Given the description of an element on the screen output the (x, y) to click on. 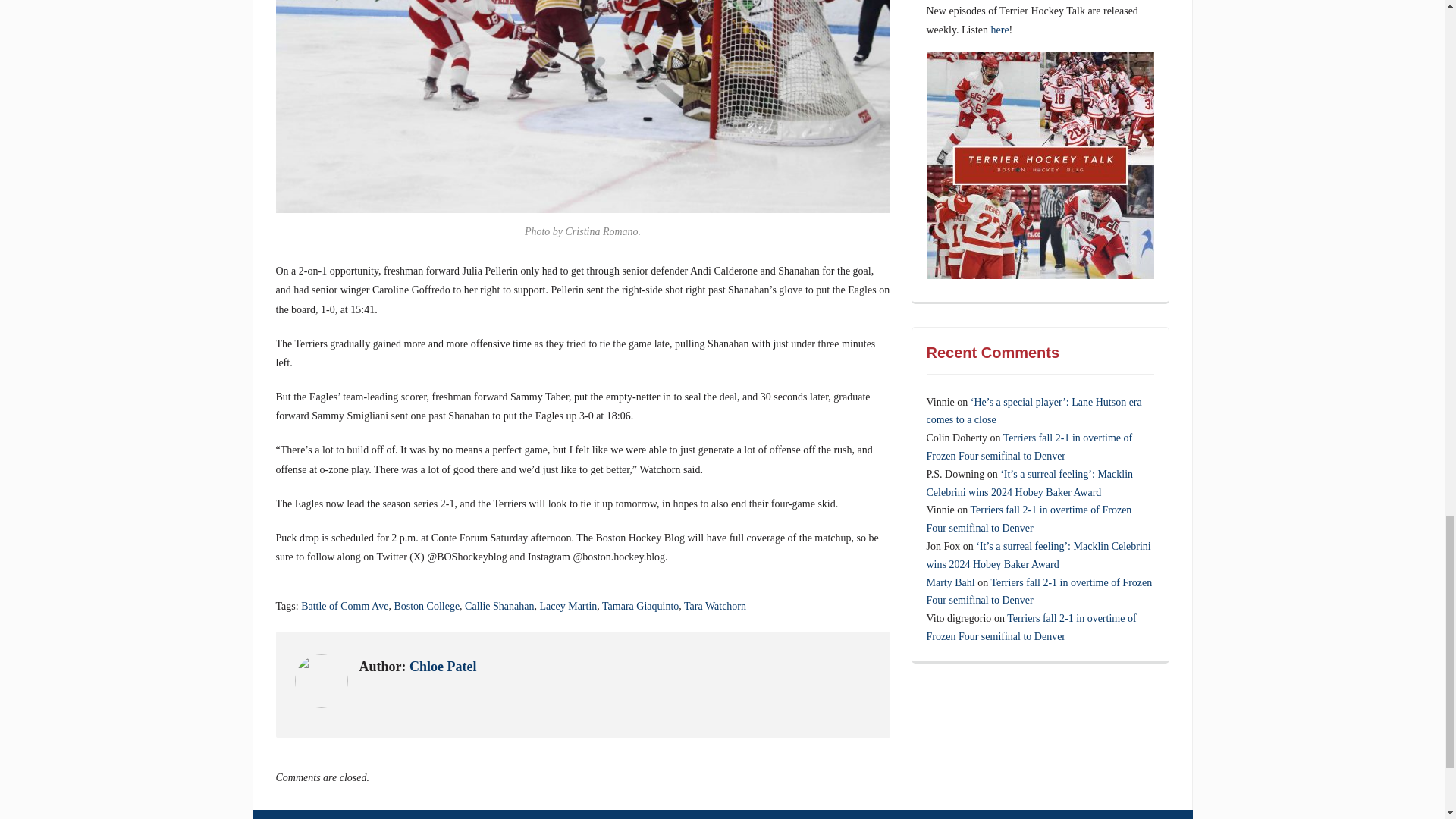
Callie Shanahan (499, 605)
Boston College (426, 605)
Chloe Patel (442, 666)
Tara Watchorn (714, 605)
Lacey Martin (567, 605)
Tamara Giaquinto (640, 605)
Battle of Comm Ave (344, 605)
